Given the description of an element on the screen output the (x, y) to click on. 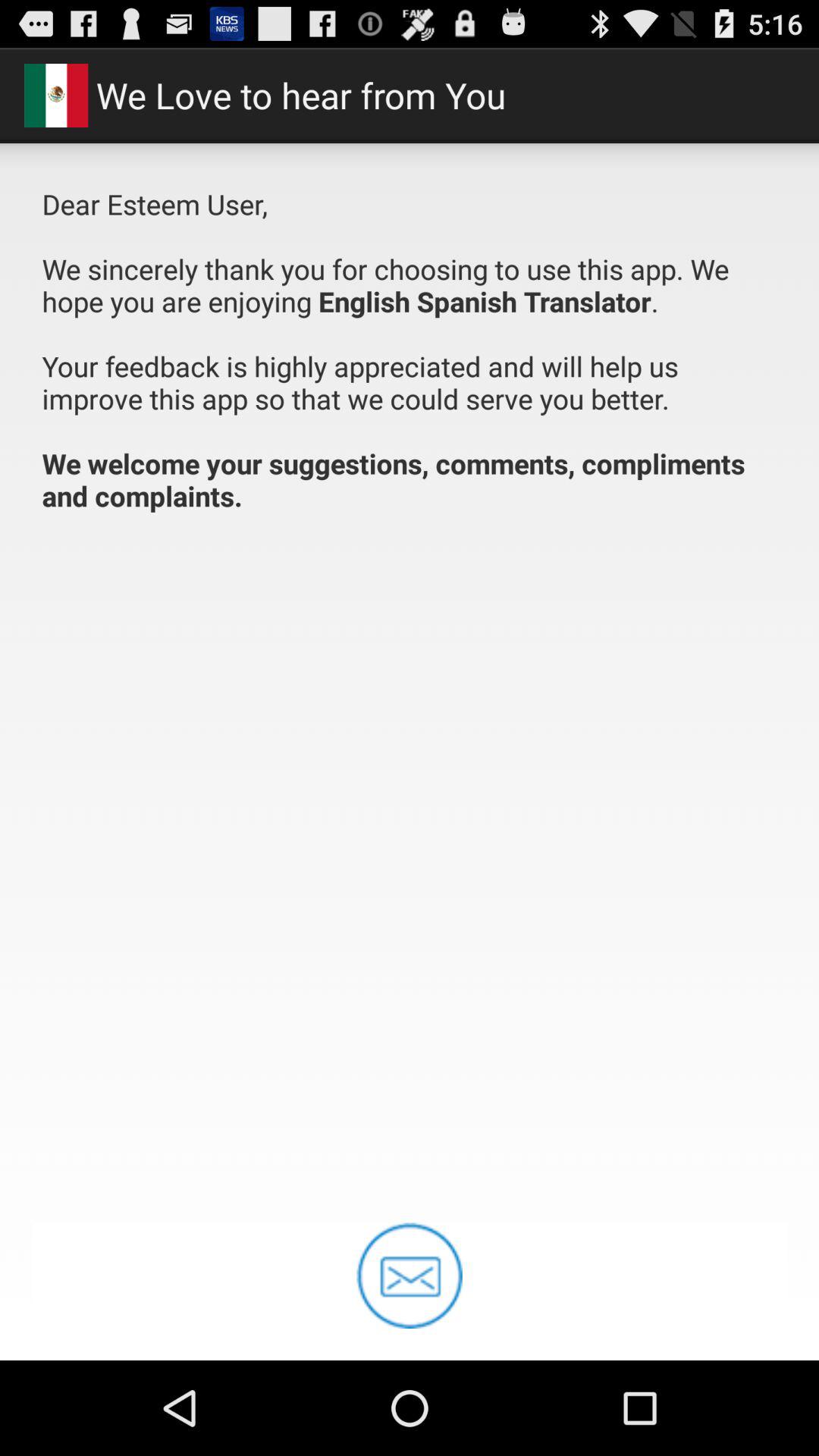
email link (409, 1275)
